Given the description of an element on the screen output the (x, y) to click on. 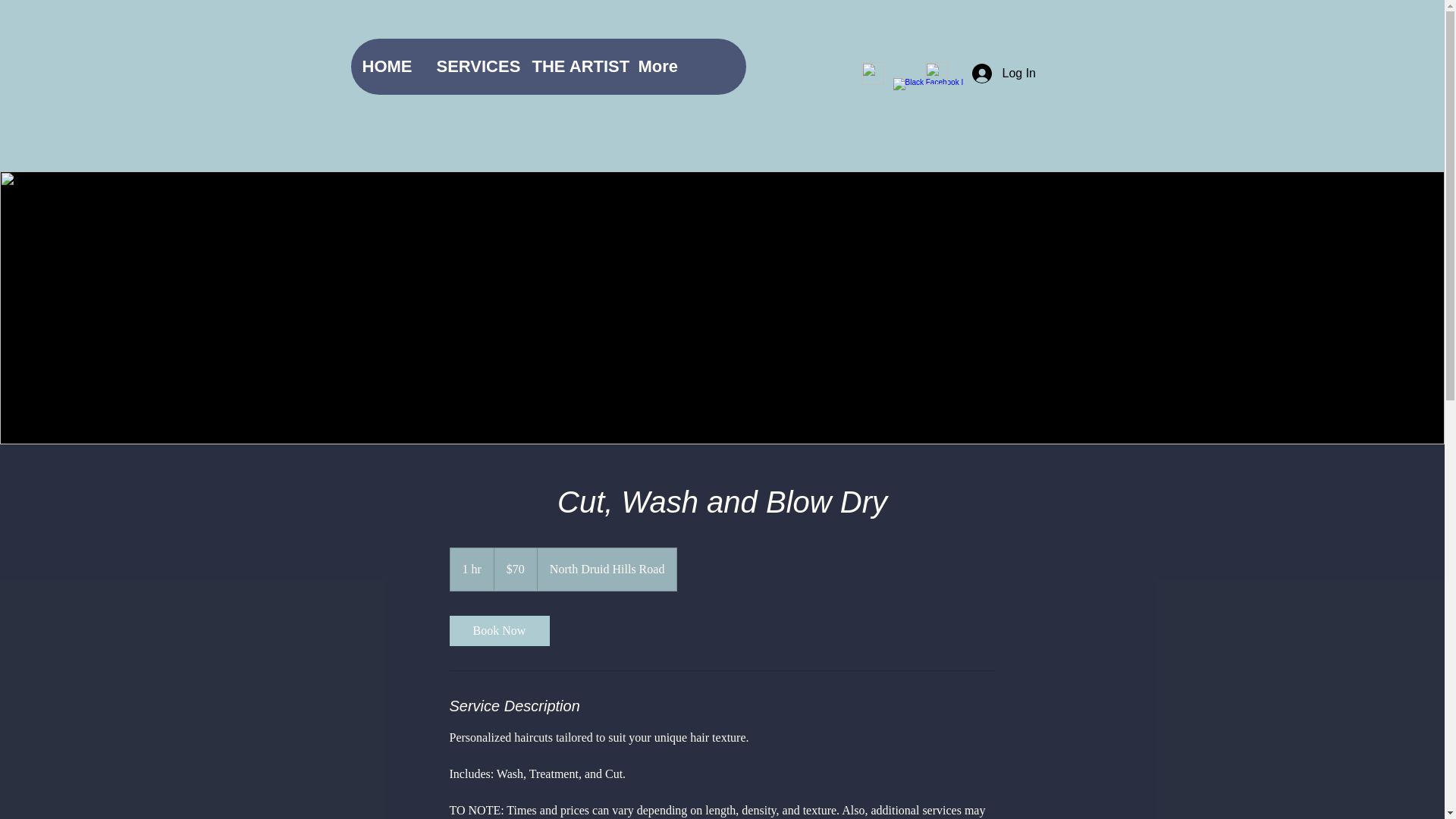
THE ARTIST (572, 66)
HOME (386, 66)
Book Now (498, 630)
Log In (991, 72)
SERVICES (472, 66)
